Given the description of an element on the screen output the (x, y) to click on. 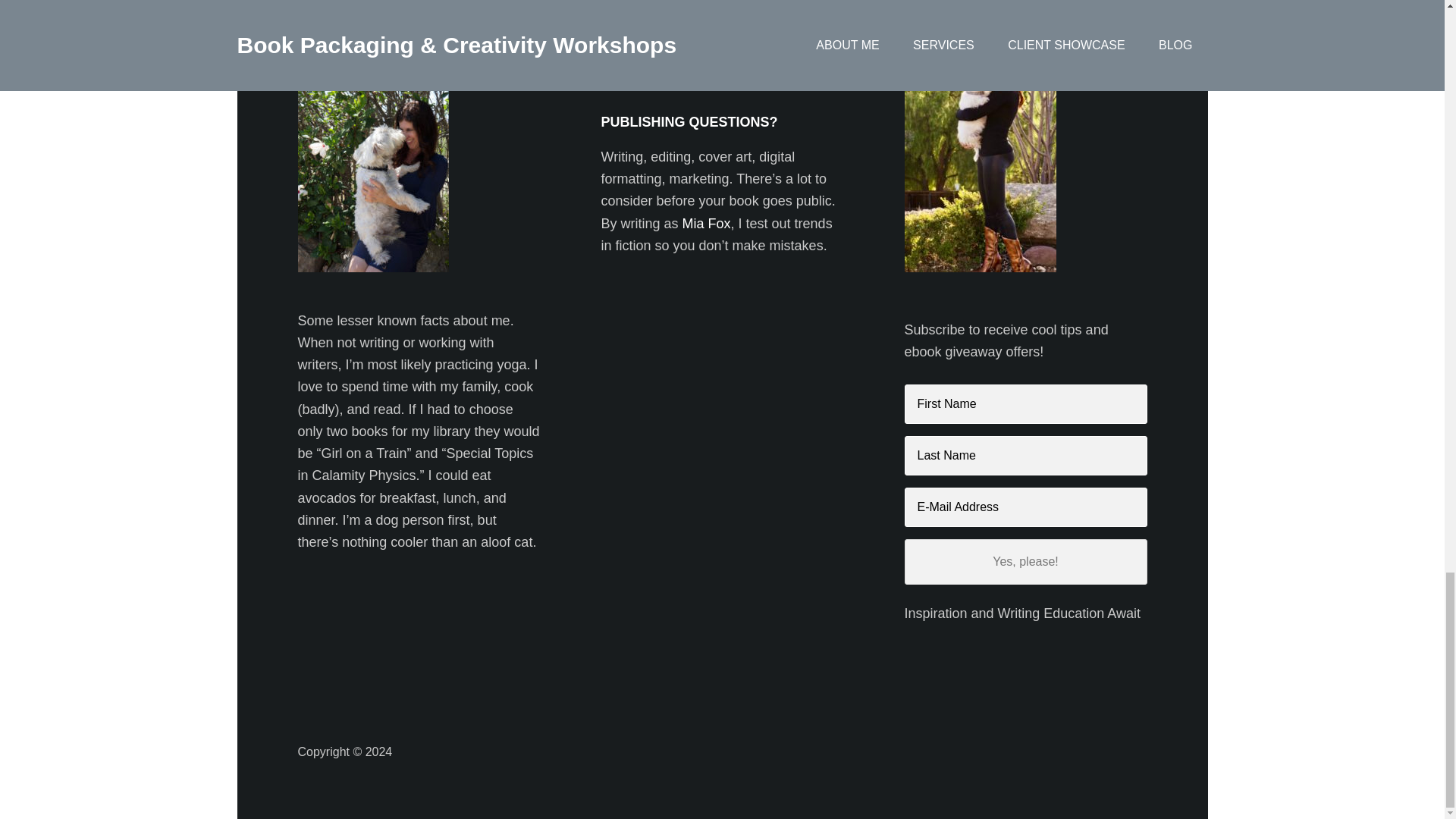
Yes, please! (1025, 561)
Yes, please! (1025, 561)
Mia Fox (706, 223)
